Given the description of an element on the screen output the (x, y) to click on. 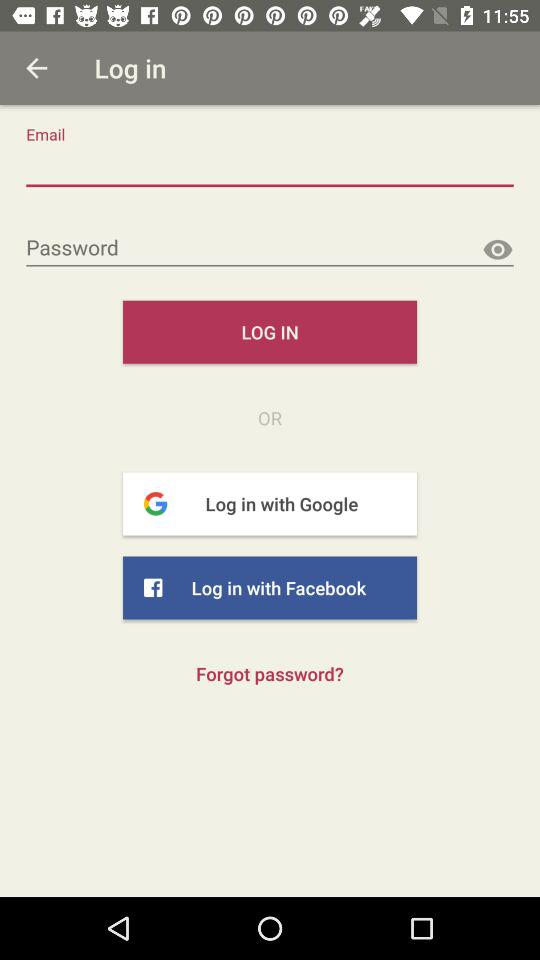
enter password (270, 248)
